Given the description of an element on the screen output the (x, y) to click on. 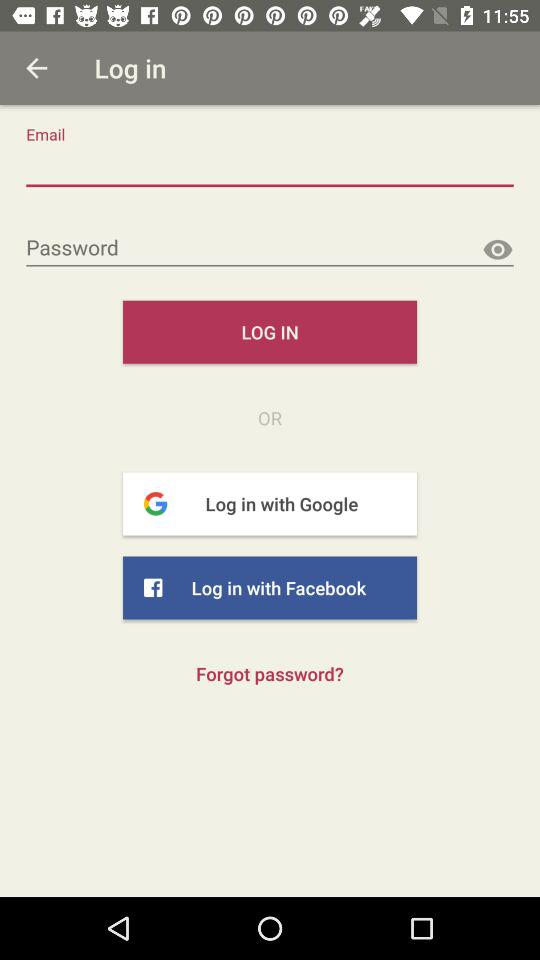
enter password (270, 248)
